Given the description of an element on the screen output the (x, y) to click on. 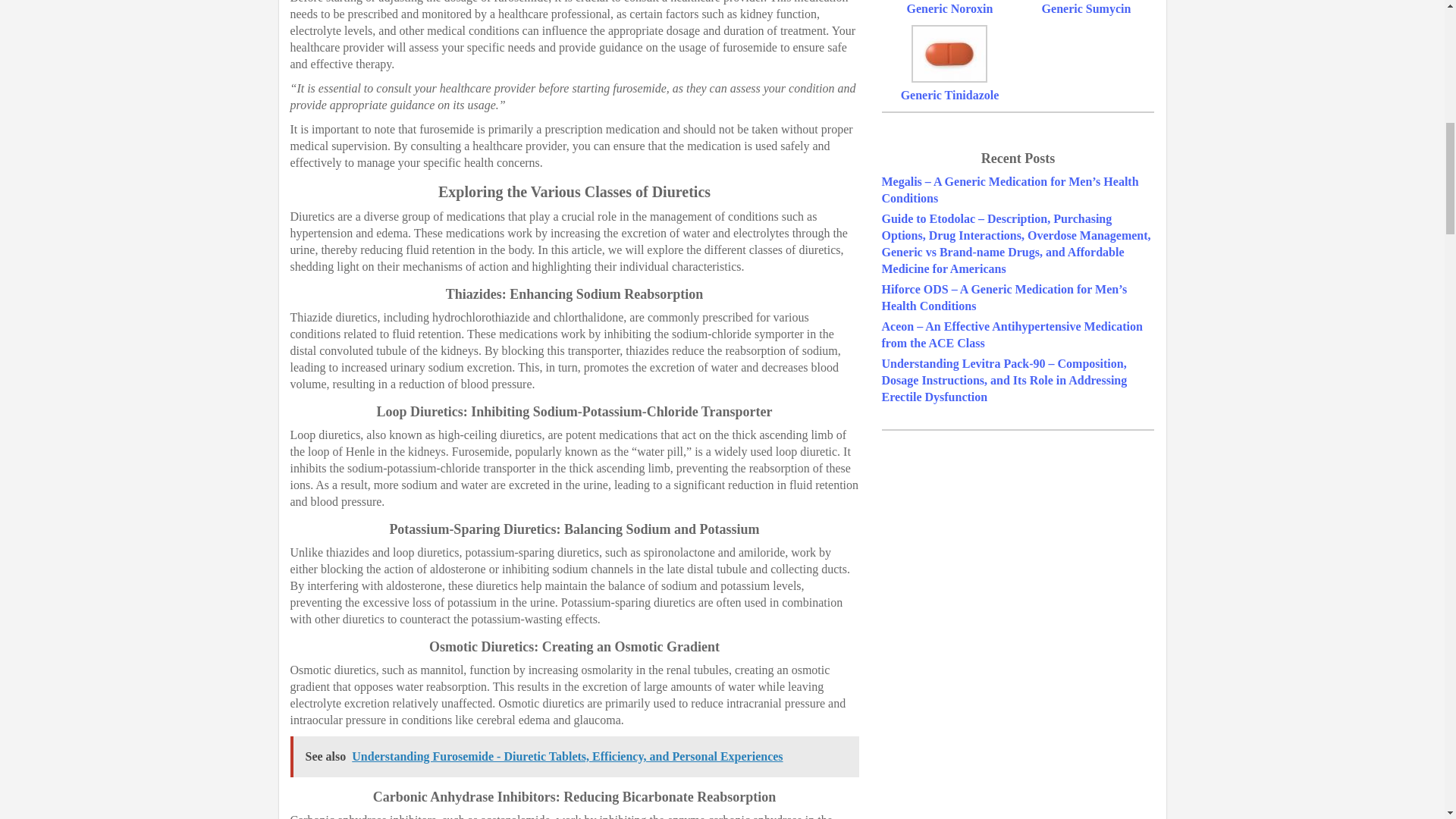
Generic Tinidazole (949, 94)
Generic Sumycin (1086, 8)
Generic Sumycin (1086, 8)
Generic Noroxin (949, 8)
Generic Noroxin (949, 8)
Generic Tinidazole (949, 94)
